Given the description of an element on the screen output the (x, y) to click on. 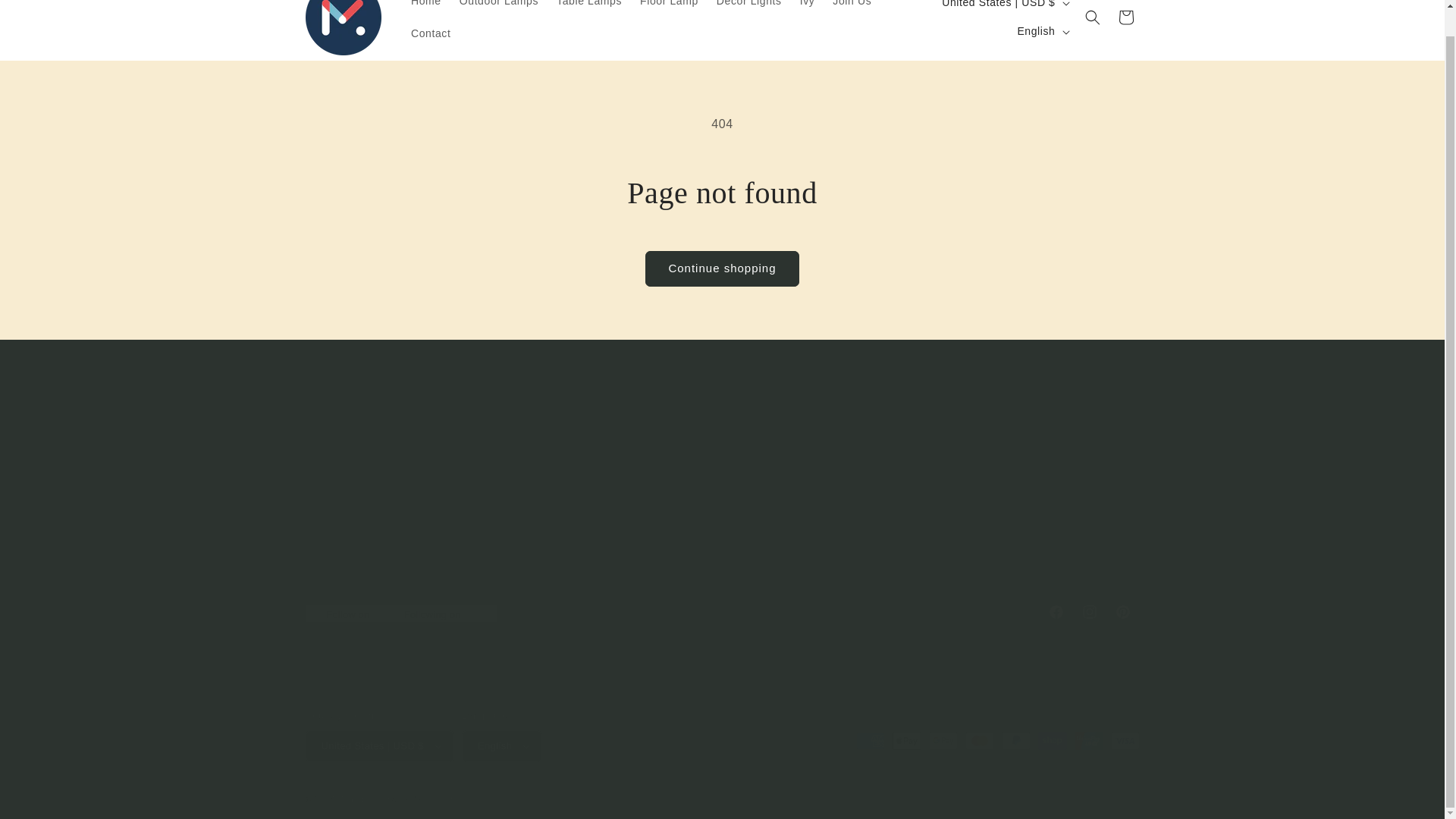
Search (747, 415)
Outdoor Lamps (498, 8)
Ivy (807, 8)
Table Lamps (721, 611)
English (588, 8)
Contact (1041, 31)
Floor Lamp (748, 467)
Join Us (668, 8)
Decor Lights (852, 8)
Cart (748, 8)
Privacy Policy (1124, 17)
Continue shopping (765, 546)
Climate Commitment (721, 268)
